Given the description of an element on the screen output the (x, y) to click on. 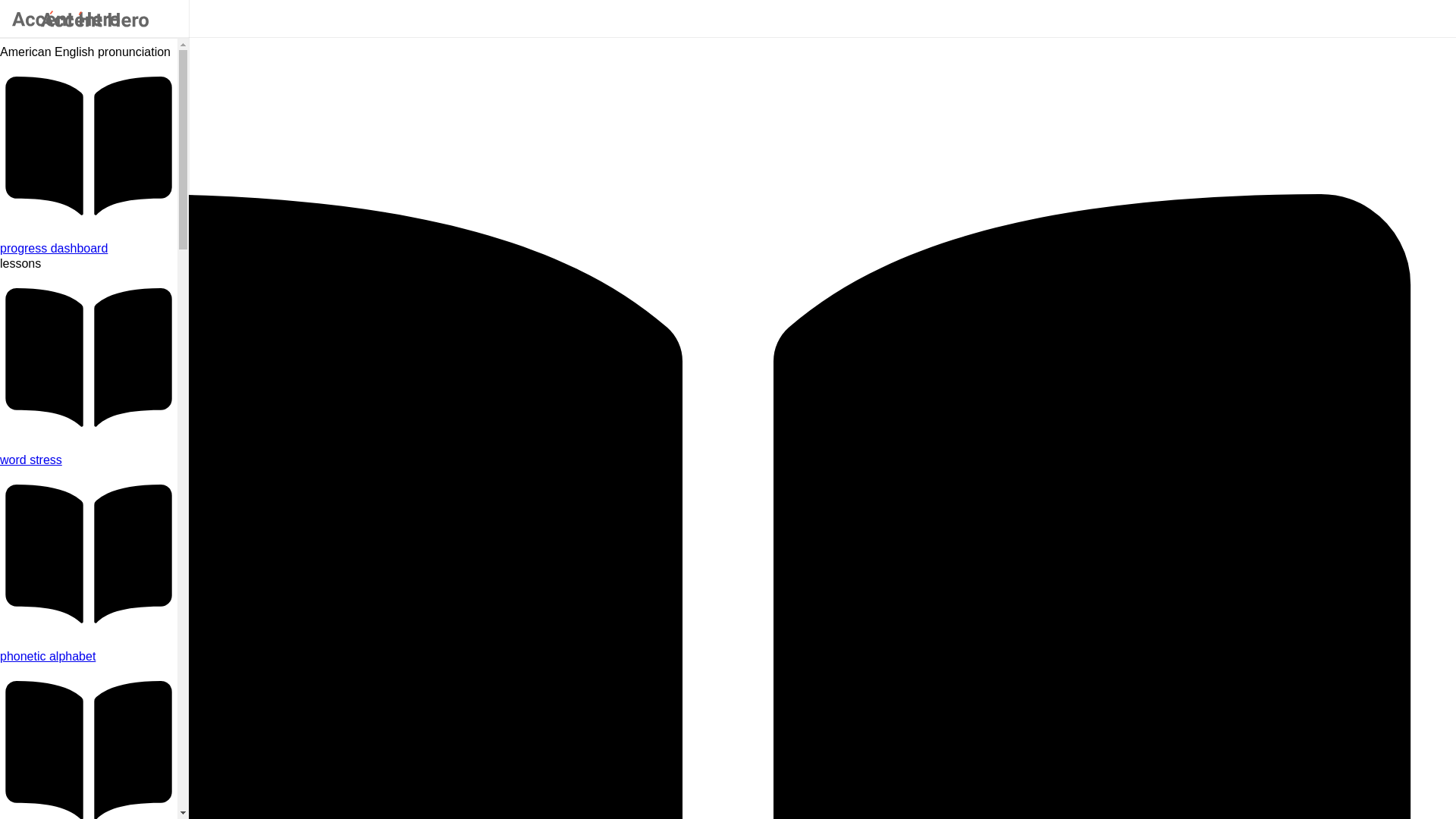
Learn to precisely articulate each sound (88, 656)
Learn how word stress influences your accent (88, 459)
